Given the description of an element on the screen output the (x, y) to click on. 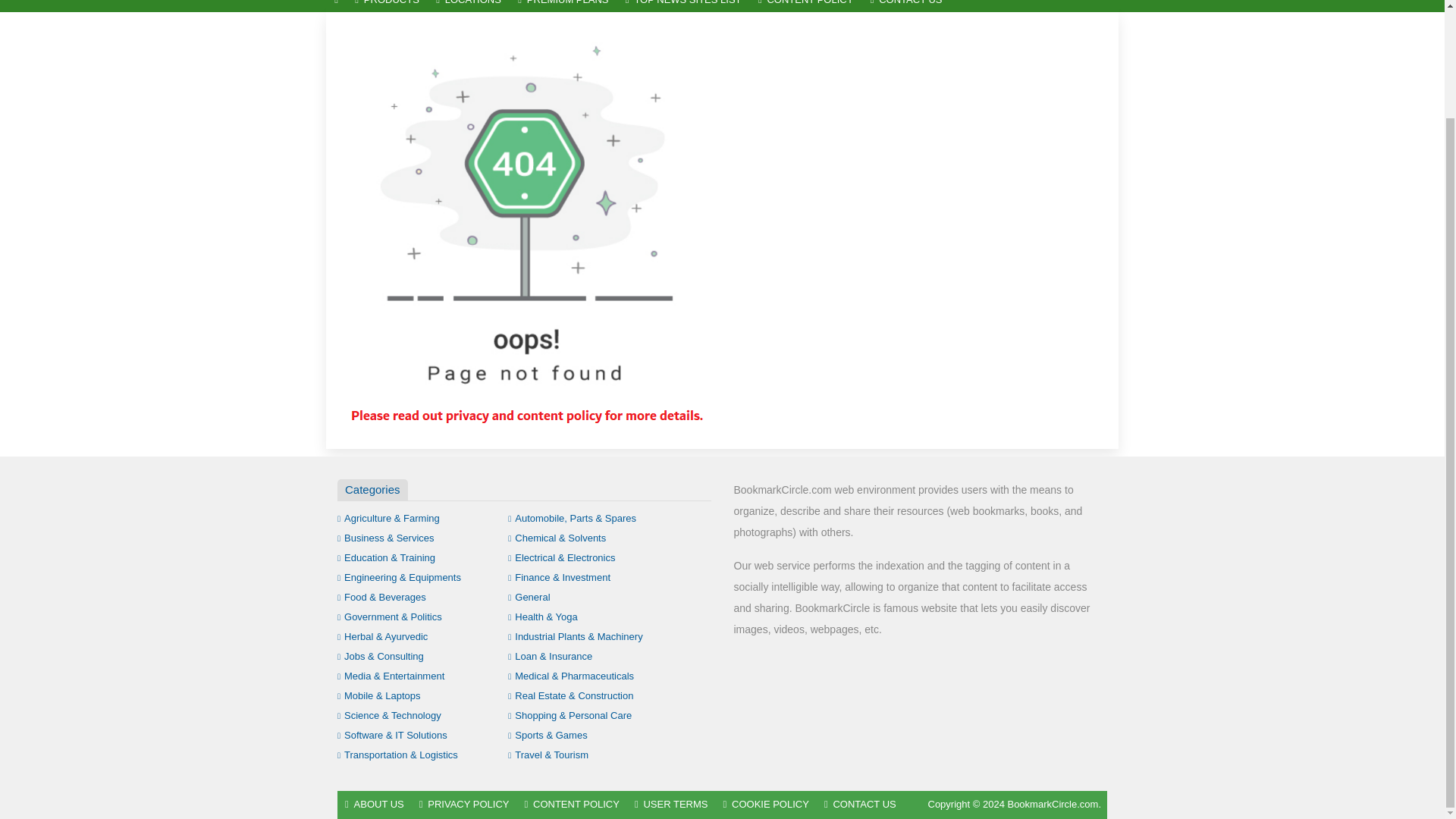
General (529, 596)
CONTENT POLICY (805, 6)
PREMIUM PLANS (563, 6)
PRODUCTS (387, 6)
TOP NEWS SITES LIST (683, 6)
HOME (336, 6)
LOCATIONS (468, 6)
CONTACT US (905, 6)
